Given the description of an element on the screen output the (x, y) to click on. 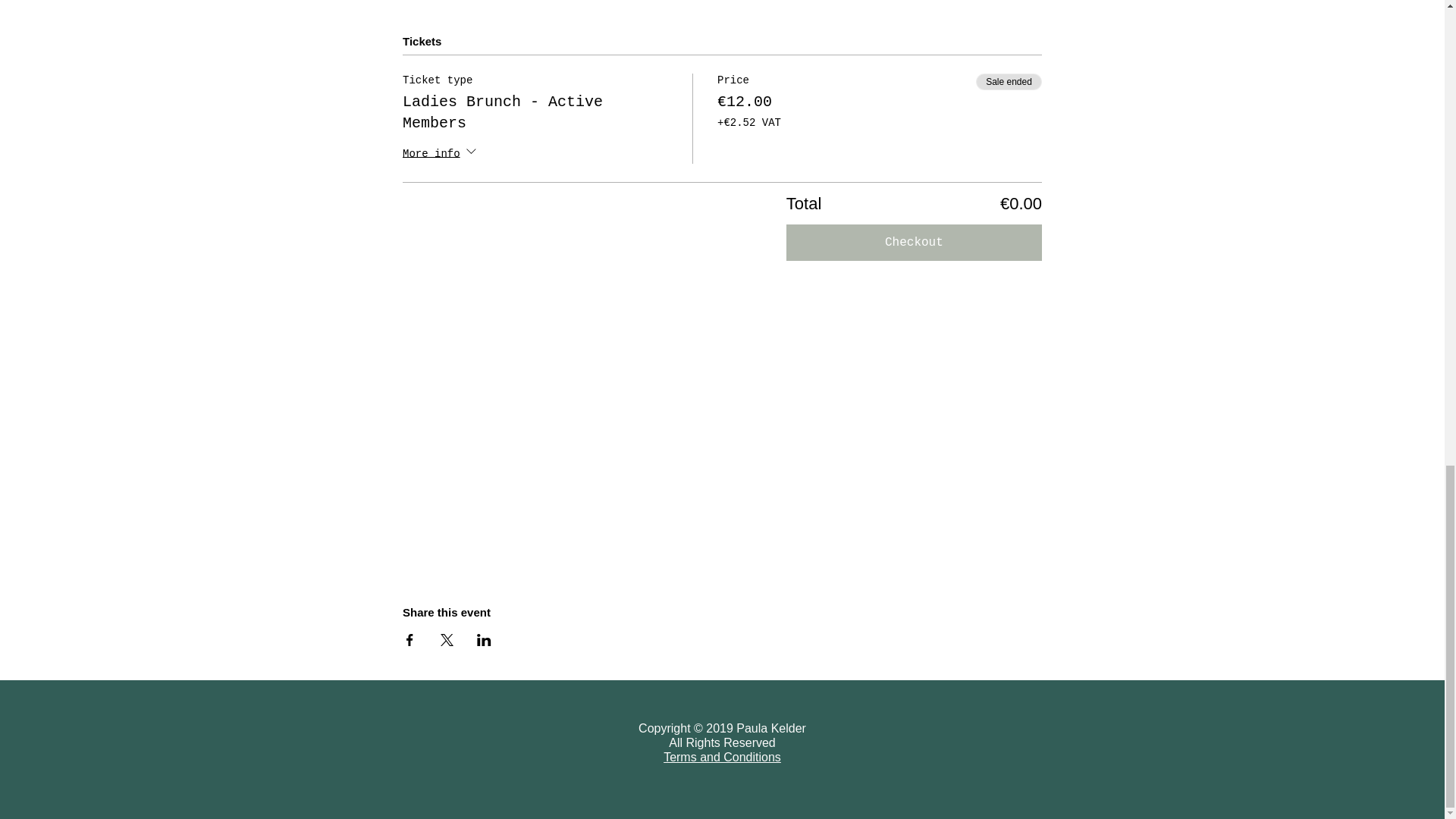
Terms and Conditions (721, 757)
More info (441, 153)
Checkout (914, 242)
